Given the description of an element on the screen output the (x, y) to click on. 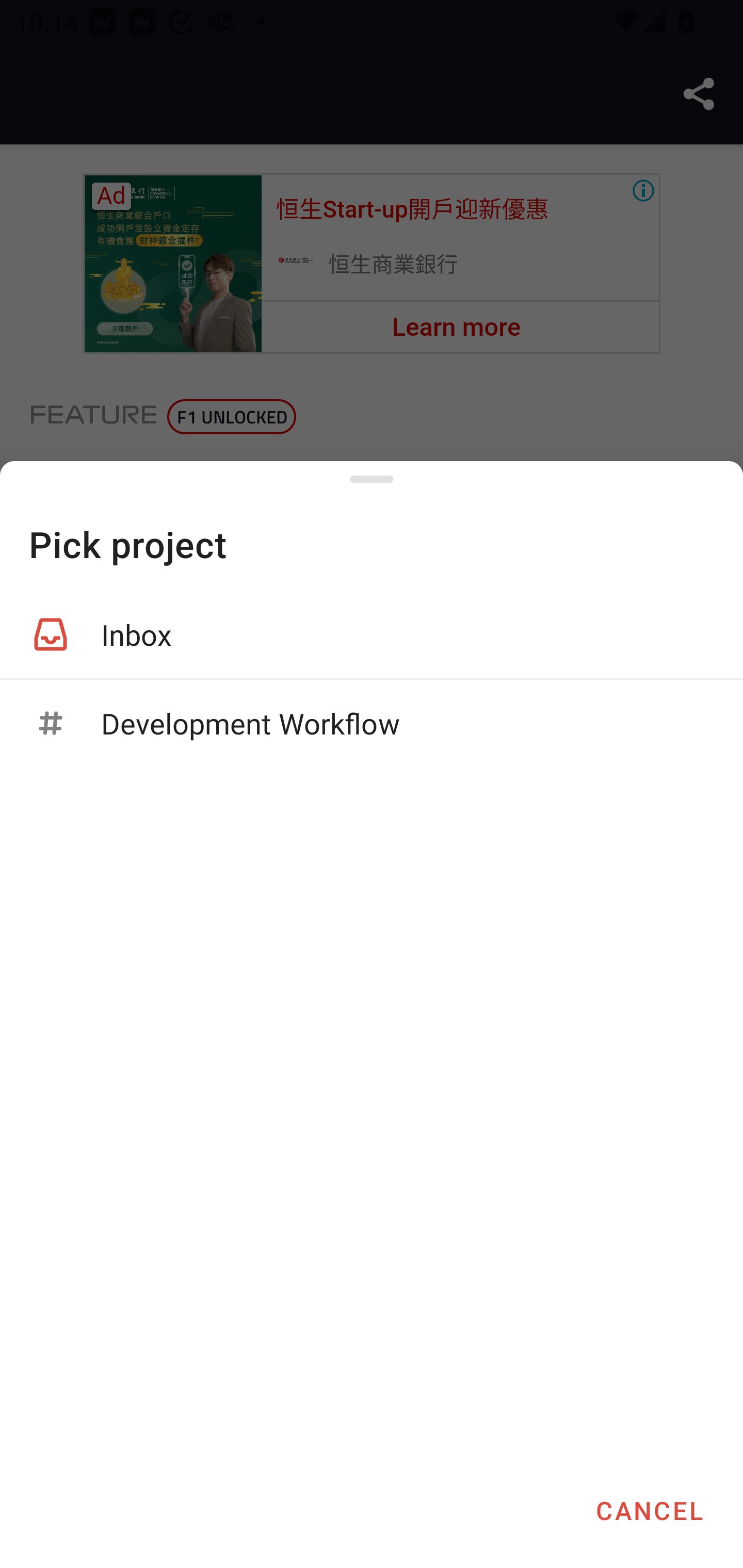
Inbox (371, 634)
Development Workflow (371, 723)
CANCEL (648, 1510)
